Given the description of an element on the screen output the (x, y) to click on. 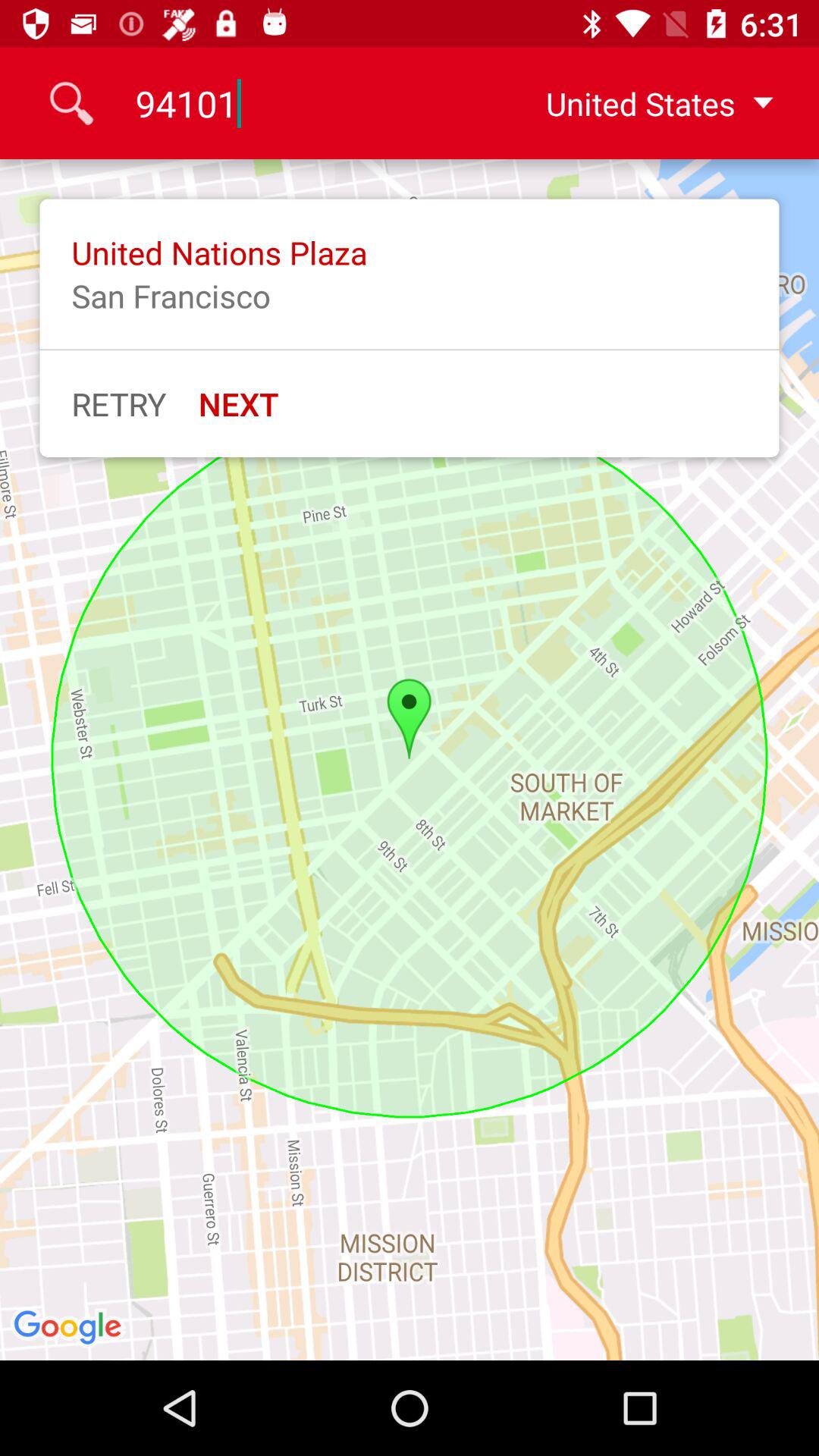
click the icon to the left of next icon (118, 403)
